Given the description of an element on the screen output the (x, y) to click on. 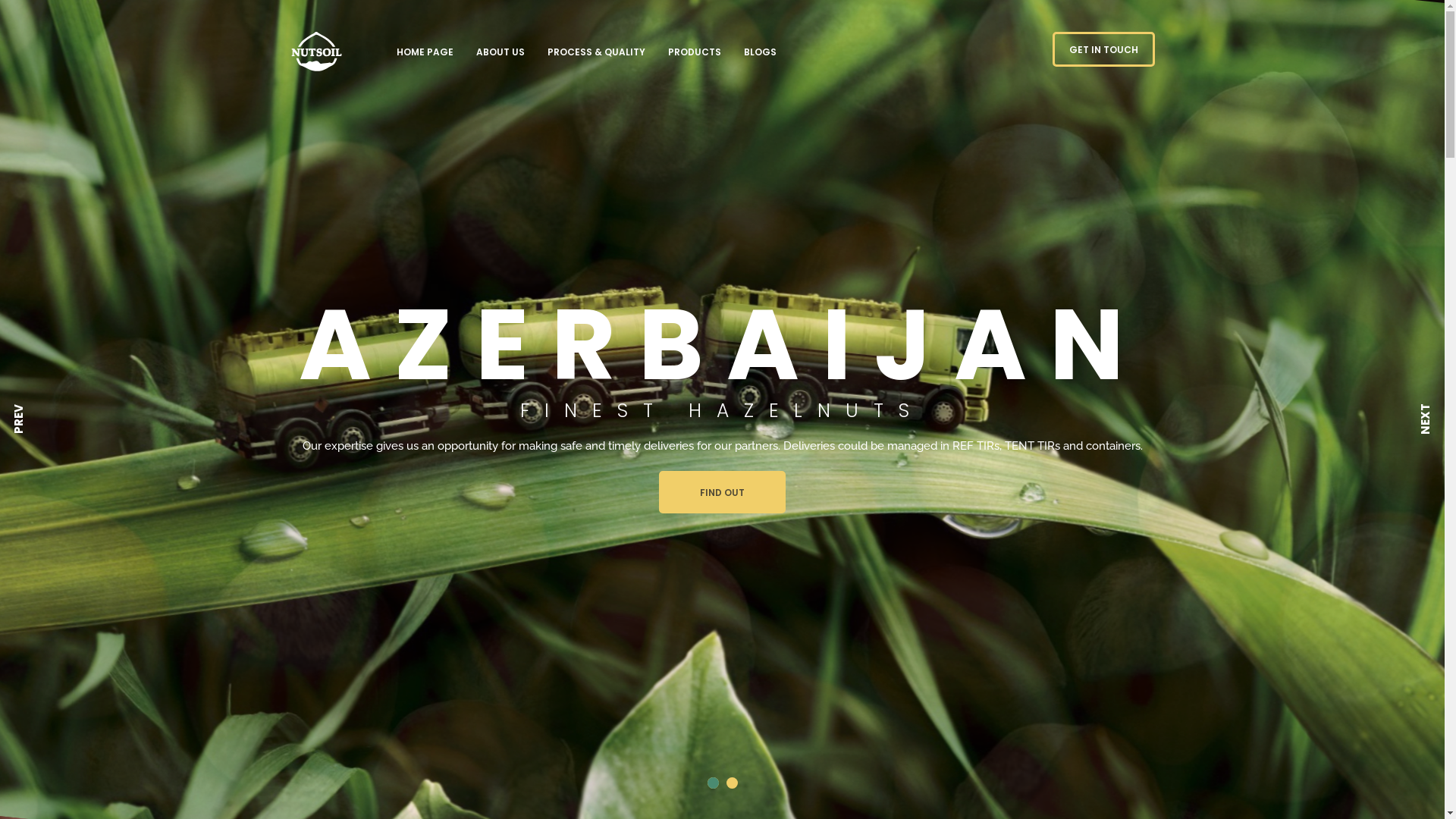
GET IN TOUCH Element type: text (1103, 48)
PROCESS & QUALITY Element type: text (595, 52)
PRODUCTS Element type: text (694, 52)
BLOGS Element type: text (760, 52)
HOME PAGE Element type: text (424, 52)
FIND OUT Element type: text (721, 491)
ABOUT US Element type: text (499, 52)
